Given the description of an element on the screen output the (x, y) to click on. 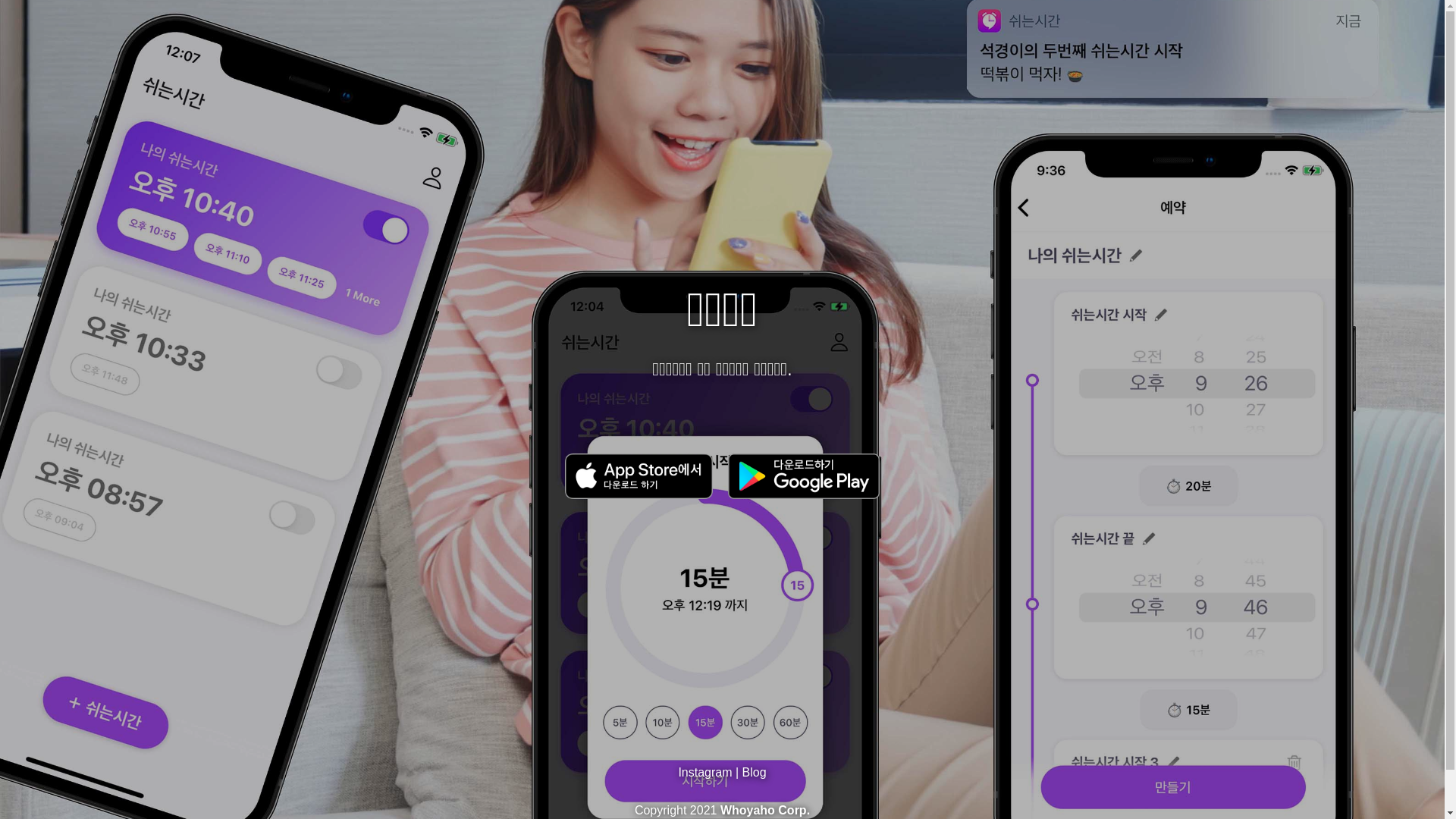
Blog Element type: text (754, 771)
Instagram Element type: text (704, 771)
Whoyaho Corp. Element type: text (764, 809)
